Given the description of an element on the screen output the (x, y) to click on. 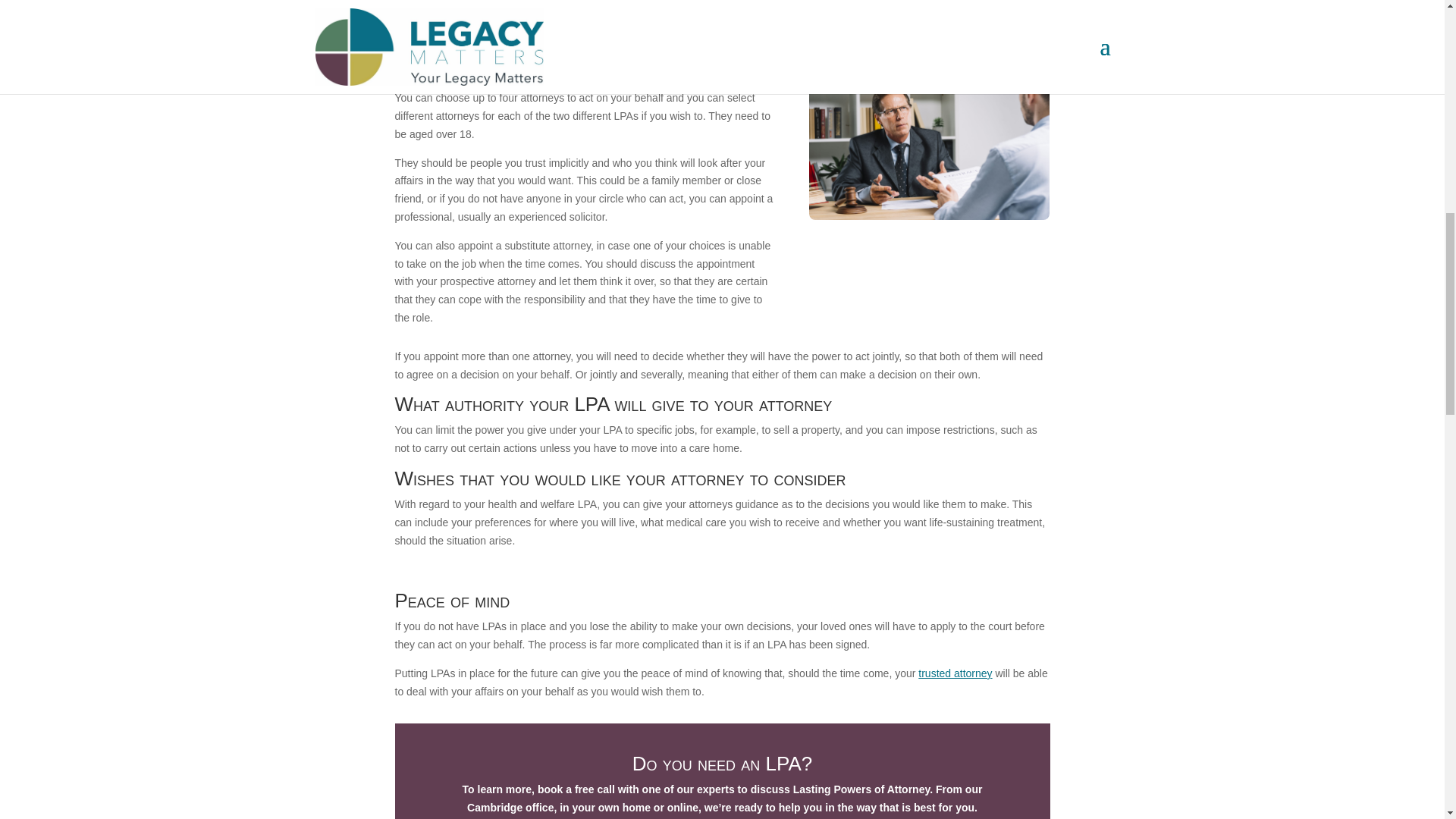
trusted attorney (954, 673)
